Given the description of an element on the screen output the (x, y) to click on. 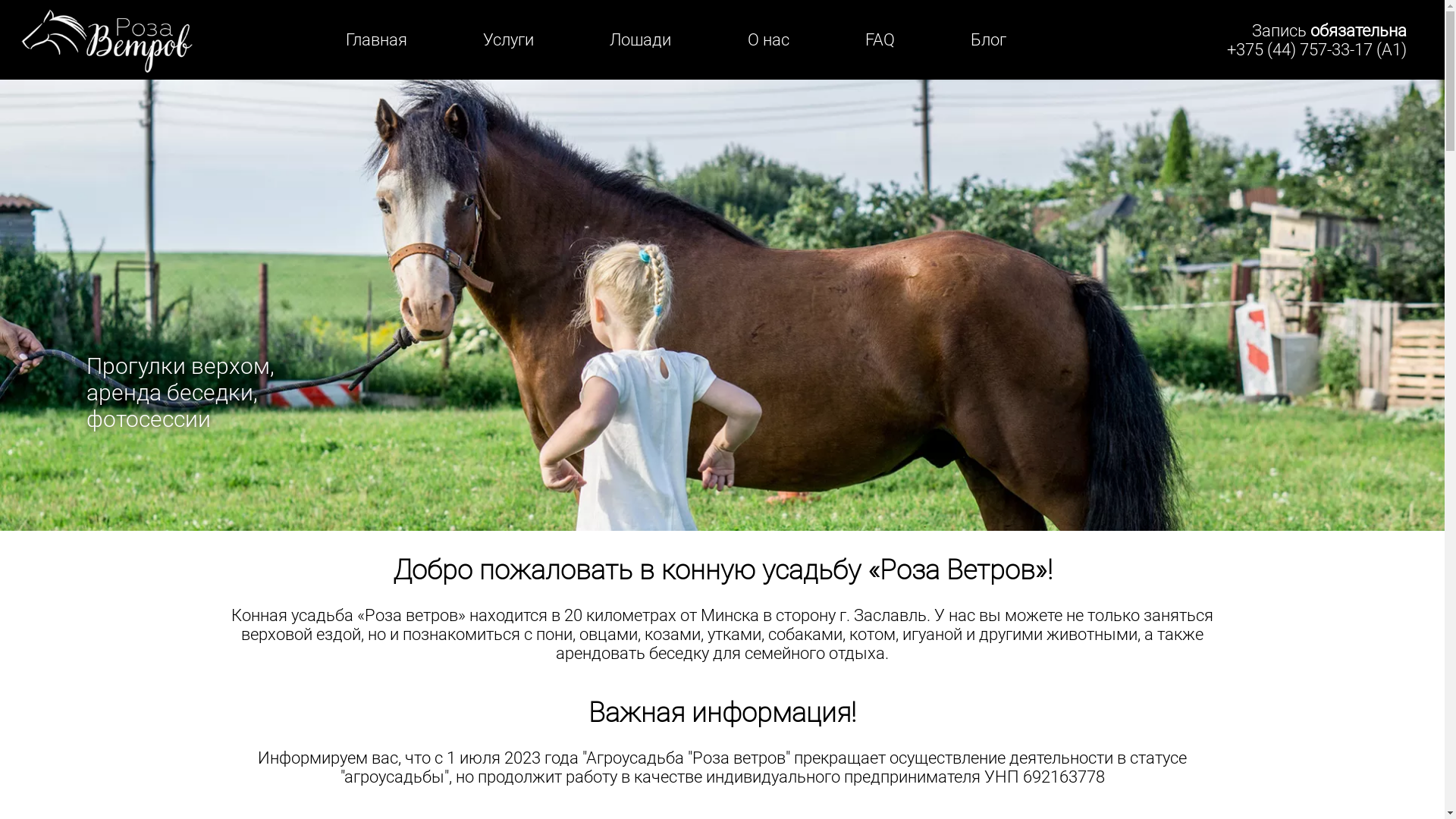
FAQ Element type: text (879, 39)
